Given the description of an element on the screen output the (x, y) to click on. 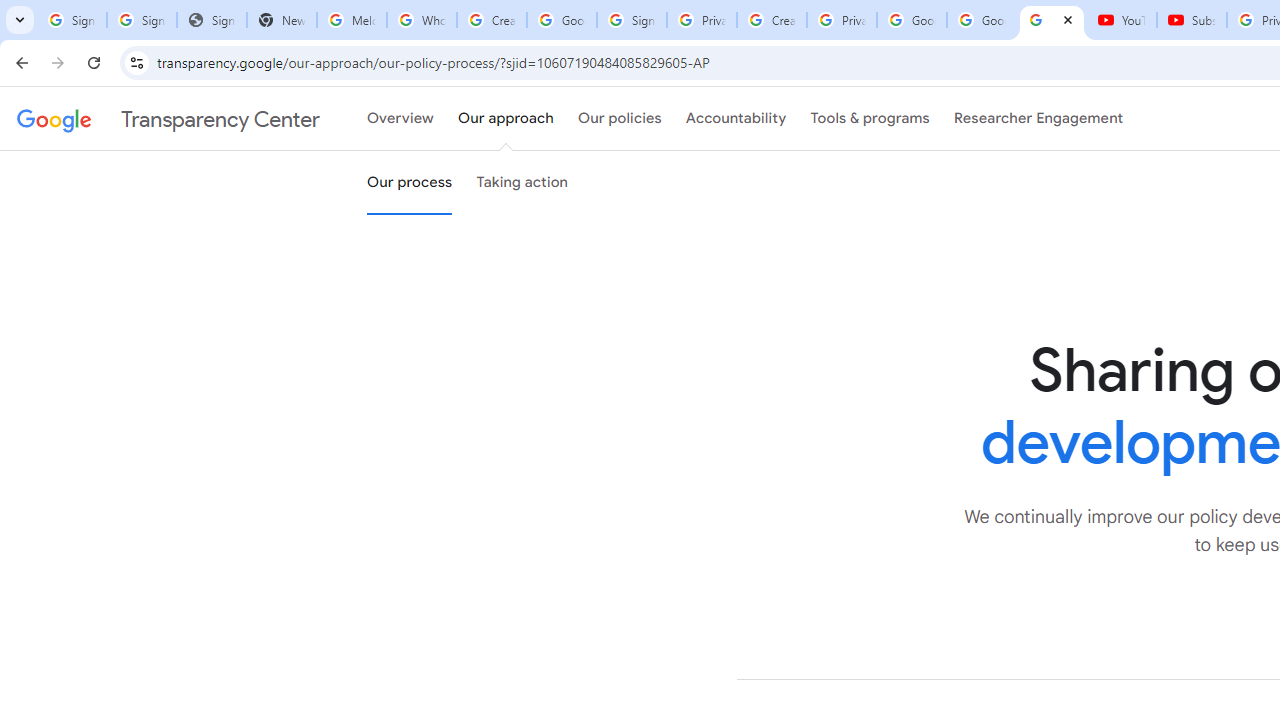
Create your Google Account (492, 20)
Researcher Engagement (1038, 119)
Who is my administrator? - Google Account Help (421, 20)
Subscriptions - YouTube (1192, 20)
Our approach (506, 119)
YouTube (1121, 20)
Our policies (619, 119)
